Given the description of an element on the screen output the (x, y) to click on. 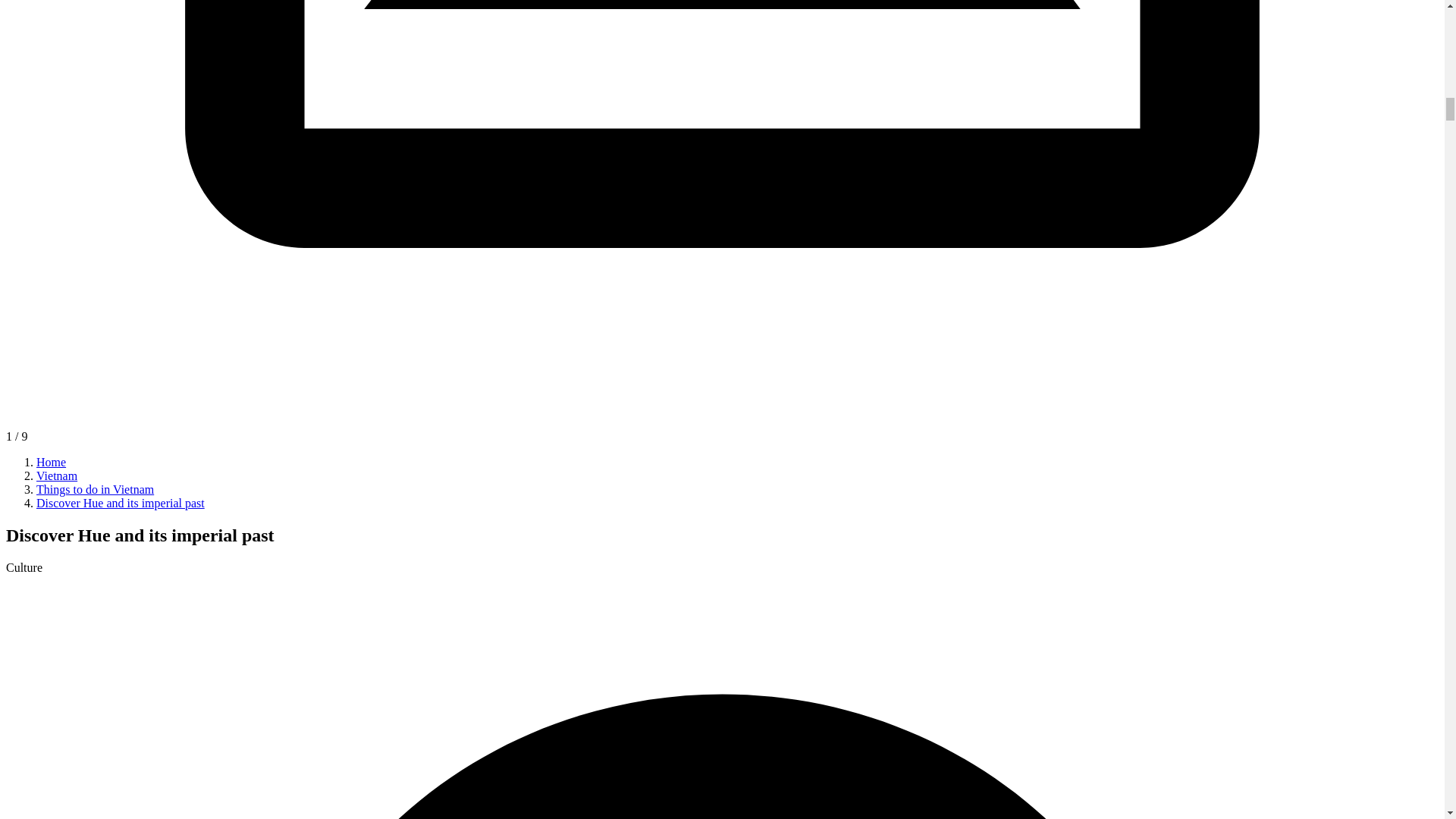
Vietnam (56, 475)
Discover Hue and its imperial past (120, 502)
Home (50, 461)
Things to do in Vietnam (95, 489)
